Given the description of an element on the screen output the (x, y) to click on. 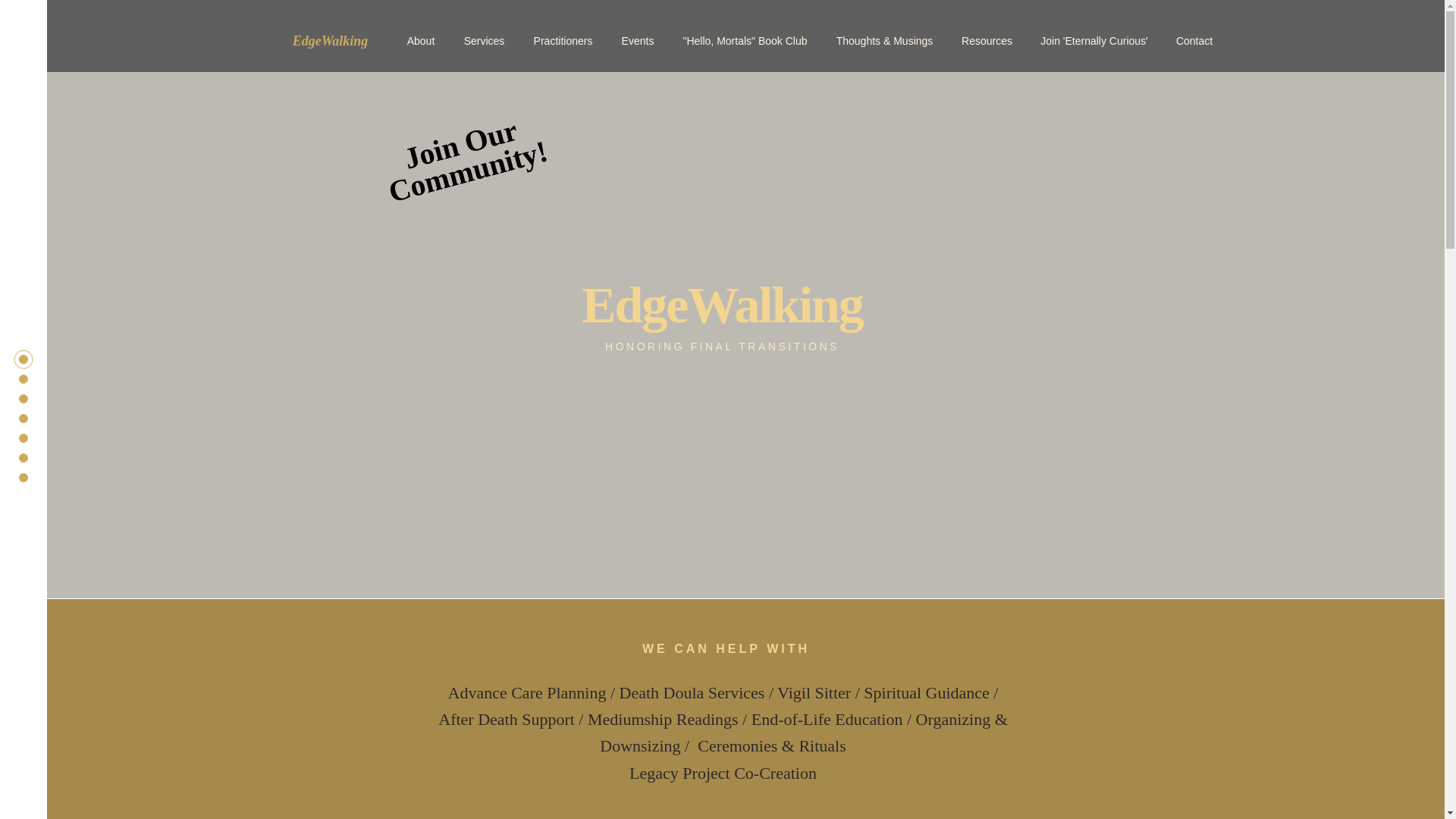
Contact (1193, 41)
About (421, 41)
Join 'Eternally Curious' (1093, 41)
Services (483, 41)
"Hello, Mortals" Book Club (463, 157)
Resources (745, 41)
Practitioners (986, 41)
Events (562, 41)
